Given the description of an element on the screen output the (x, y) to click on. 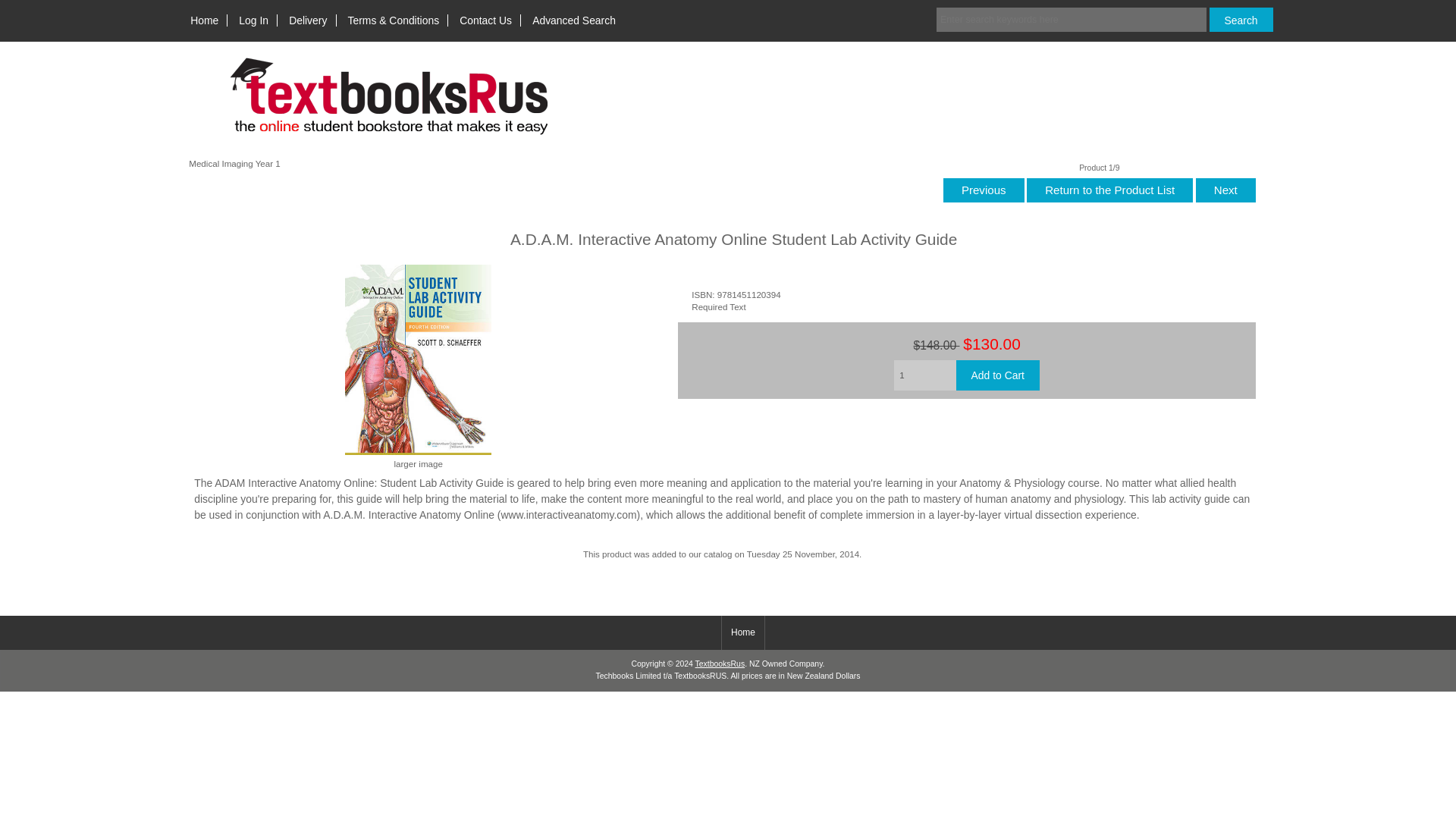
Advanced Search (574, 20)
Medical Imaging Year 1 (235, 163)
Search (1240, 19)
Search (1240, 19)
1 (924, 375)
 Previous  (984, 190)
Add to Cart (997, 375)
Add to Cart (997, 375)
Search (1240, 19)
Log In (253, 20)
 Return to the Product List  (1109, 190)
larger image (418, 457)
Contact Us (485, 20)
Delivery (307, 20)
TextbooksRus (720, 664)
